Given the description of an element on the screen output the (x, y) to click on. 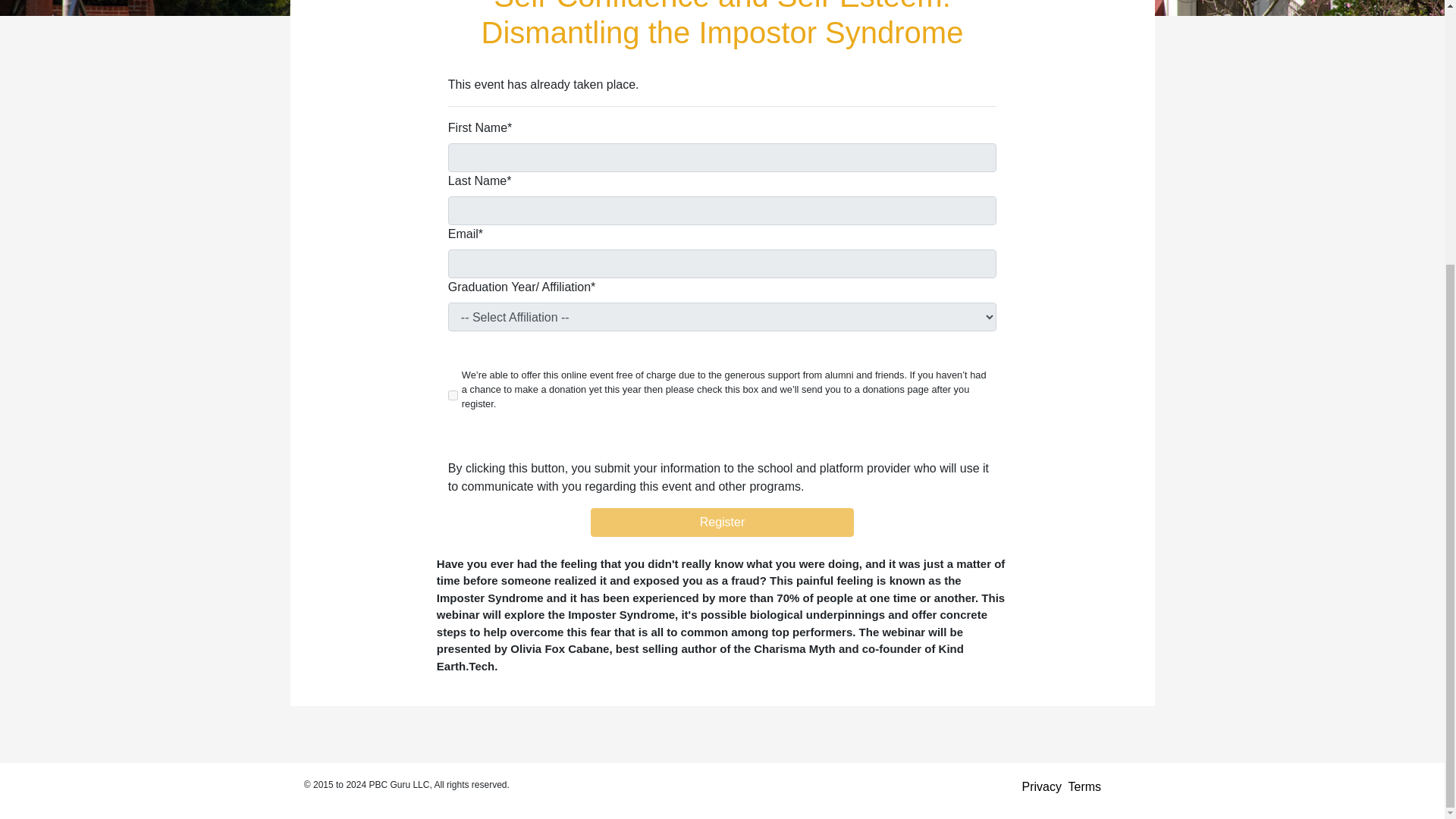
Privacy (1041, 786)
1 (453, 395)
Register (722, 522)
Terms (1085, 786)
Register (722, 522)
